Given the description of an element on the screen output the (x, y) to click on. 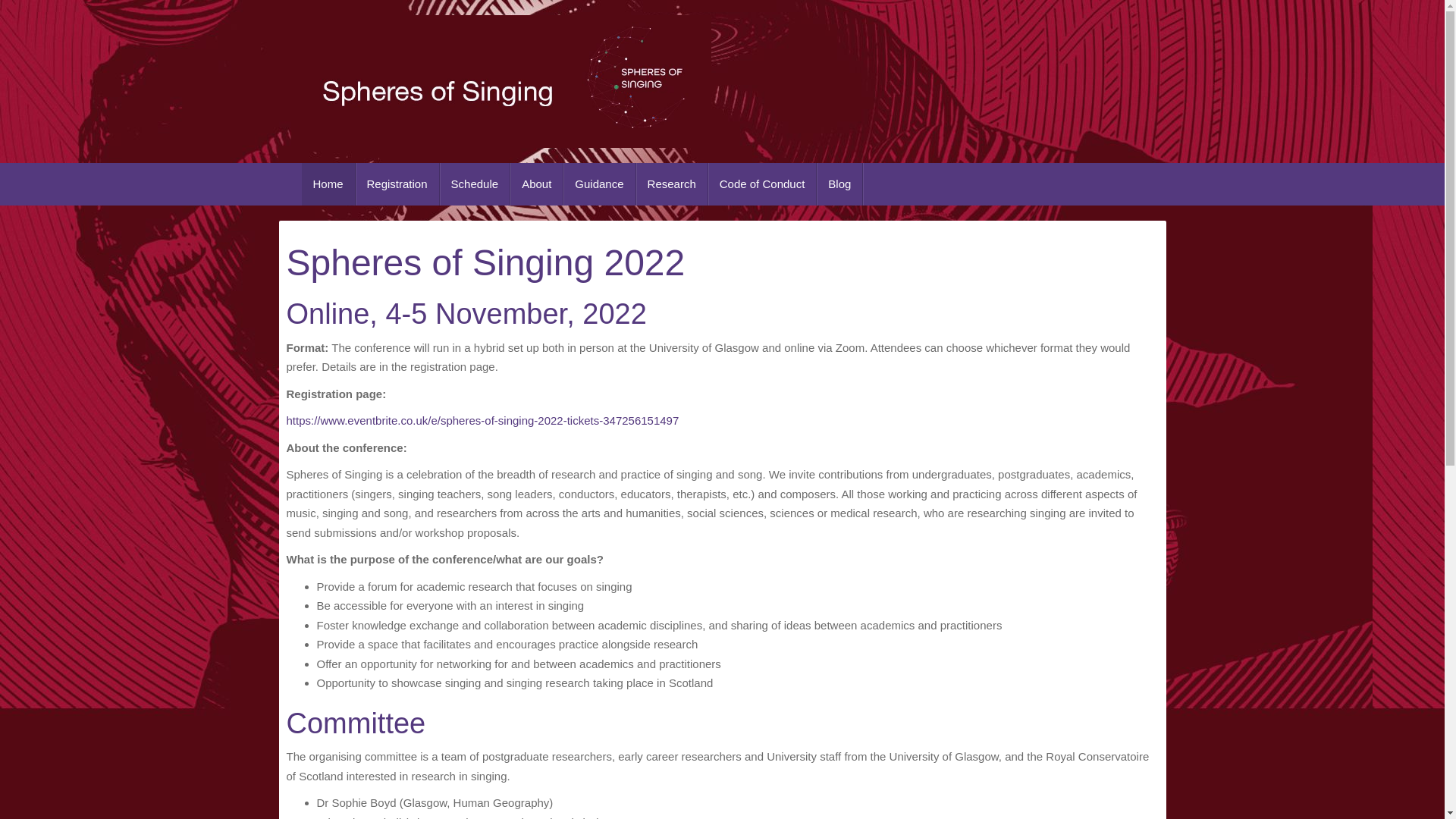
Research (671, 183)
Schedule (475, 183)
Home (328, 183)
Research (671, 183)
Blog (839, 183)
Guidance (598, 183)
Schedule (475, 183)
About (537, 183)
Code of Conduct (761, 183)
About (537, 183)
